Given the description of an element on the screen output the (x, y) to click on. 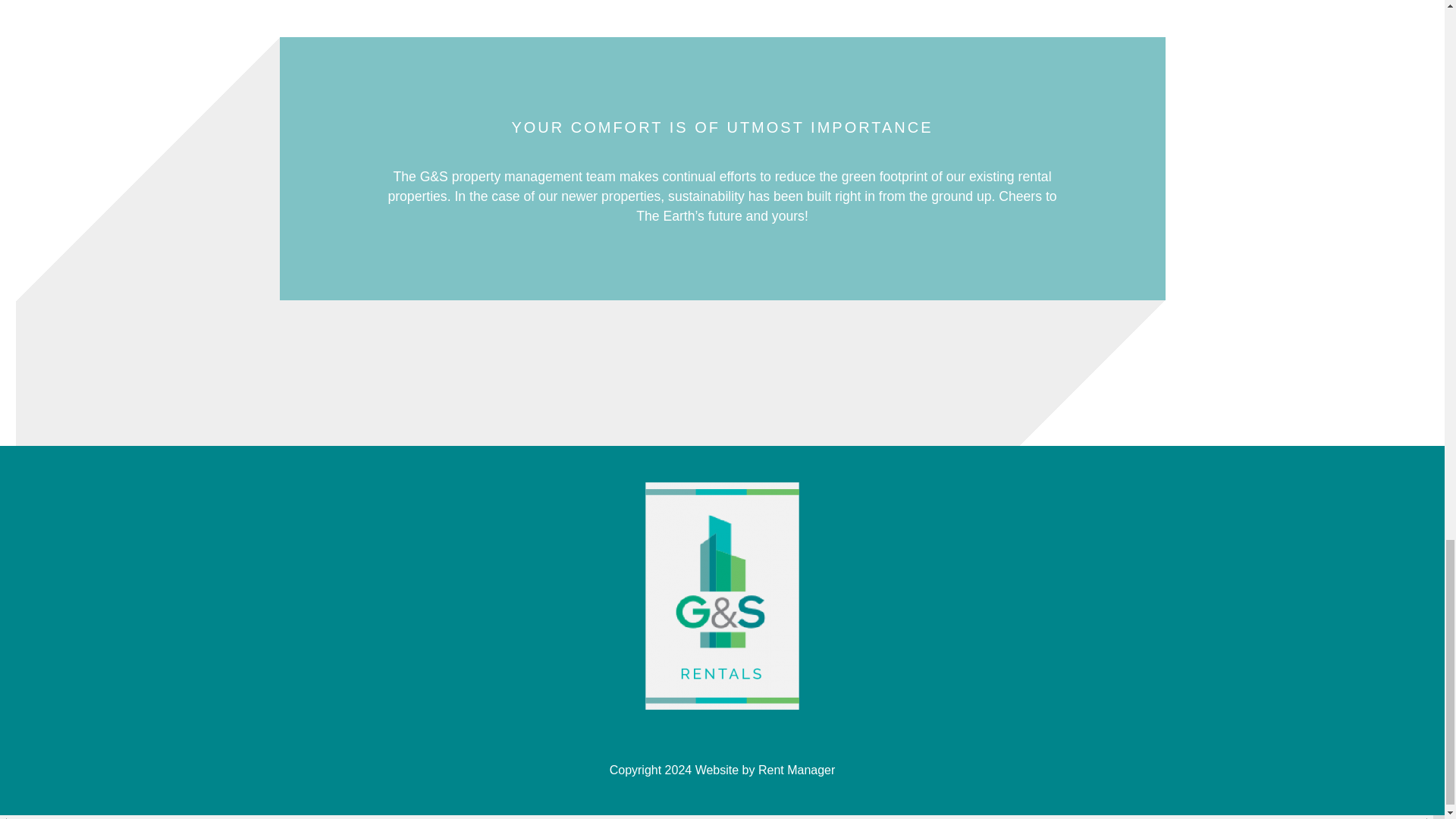
Website by Rent Manager (765, 769)
